Given the description of an element on the screen output the (x, y) to click on. 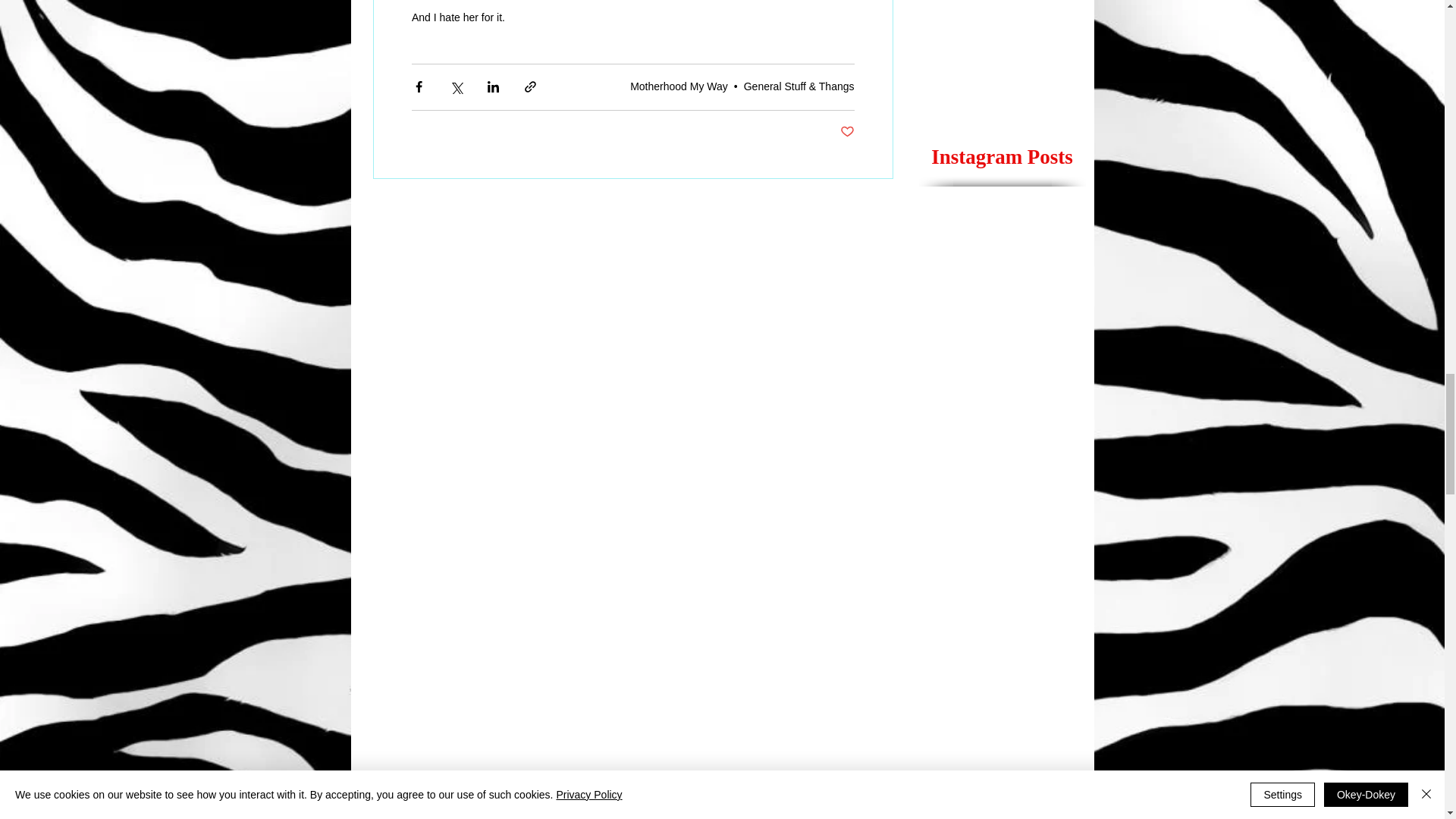
Motherhood My Way (679, 86)
Post not marked as liked (847, 132)
